Given the description of an element on the screen output the (x, y) to click on. 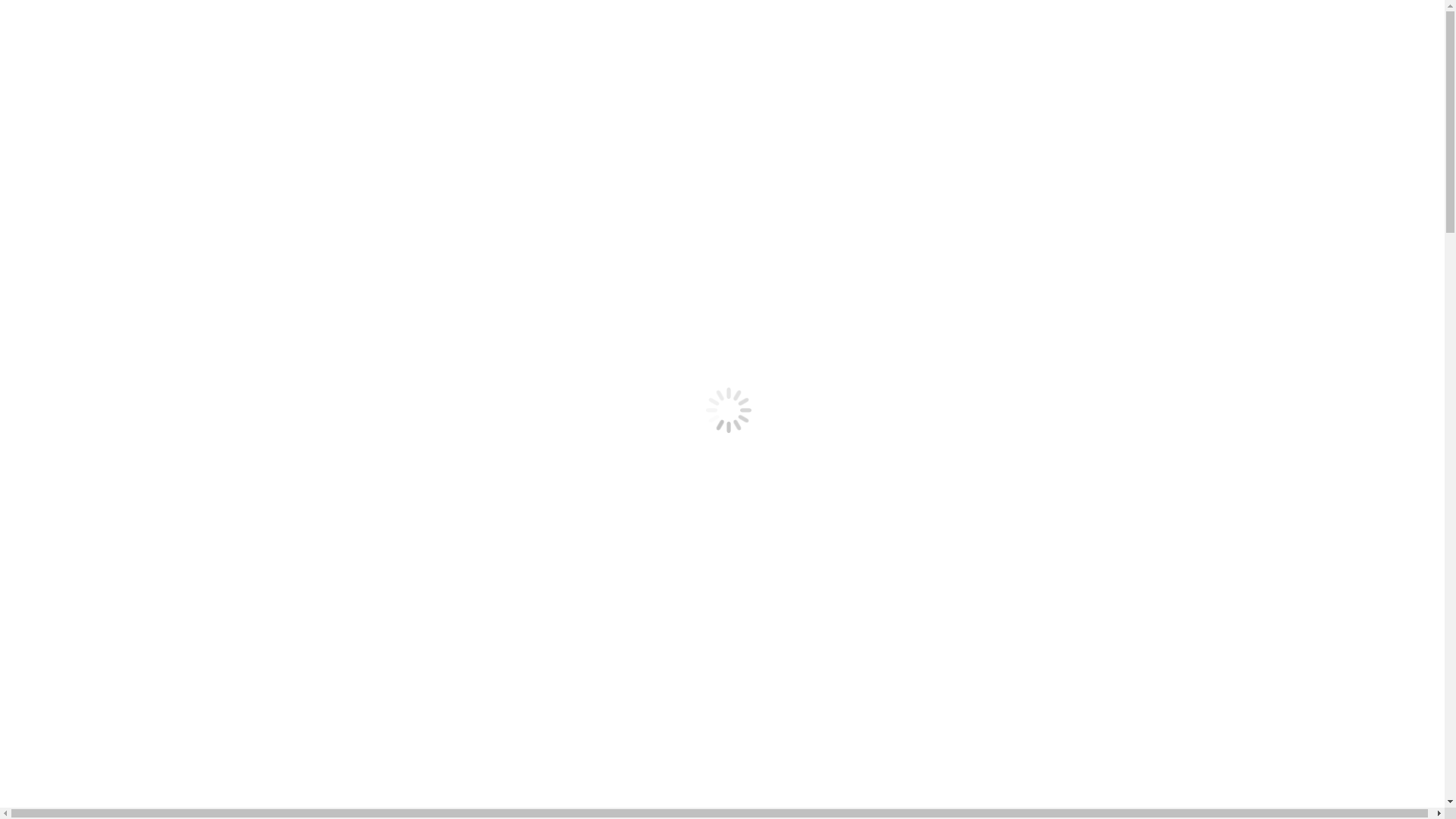
Partners Element type: text (86, 438)
Blocked Drains & Repairs Element type: text (130, 217)
Blocked Drains & Repairs Element type: text (130, 506)
Partners Element type: text (86, 149)
Bathroom Renovations & Restoration Element type: text (158, 244)
Solar & Electric Hot Water Service Element type: text (151, 492)
About Us Element type: text (59, 410)
Go! Element type: text (20, 371)
Kitchen & Laundry Renovations Element type: text (145, 561)
General Plumbing Maintenance Element type: text (143, 231)
Booking Request Element type: text (78, 574)
Services Element type: text (56, 190)
Quote Request Element type: text (102, 588)
Search form Element type: hover (73, 355)
Job Request Element type: text (95, 602)
Booking Request Element type: text (78, 285)
Contact Element type: text (55, 465)
Bathroom Renovations & Restoration Element type: text (158, 533)
Home Element type: text (50, 702)
Kitchen & Laundry Renovations Element type: text (145, 272)
About Us Element type: text (89, 135)
Quote Request Element type: text (102, 299)
Home Element type: text (50, 397)
About Us Element type: text (89, 424)
Contact Element type: text (55, 176)
Home Element type: text (50, 108)
Skip to content Element type: text (5, 5)
0403 189 623 Element type: text (208, 68)
Septic & Greywater Waste Treatment Systems Element type: text (178, 547)
Solar & Electric Hot Water Service Element type: text (151, 203)
Services Element type: text (56, 479)
About Us Element type: text (59, 122)
Testimonials Element type: text (97, 162)
Septic & Greywater Waste Treatment Systems Element type: text (178, 258)
General Plumbing Maintenance Element type: text (143, 520)
Facebook page opens in new window Element type: text (12, 82)
Testimonials Element type: text (97, 451)
bookings@mr-plumber.com.au Element type: text (87, 68)
Job Request Element type: text (95, 313)
